Given the description of an element on the screen output the (x, y) to click on. 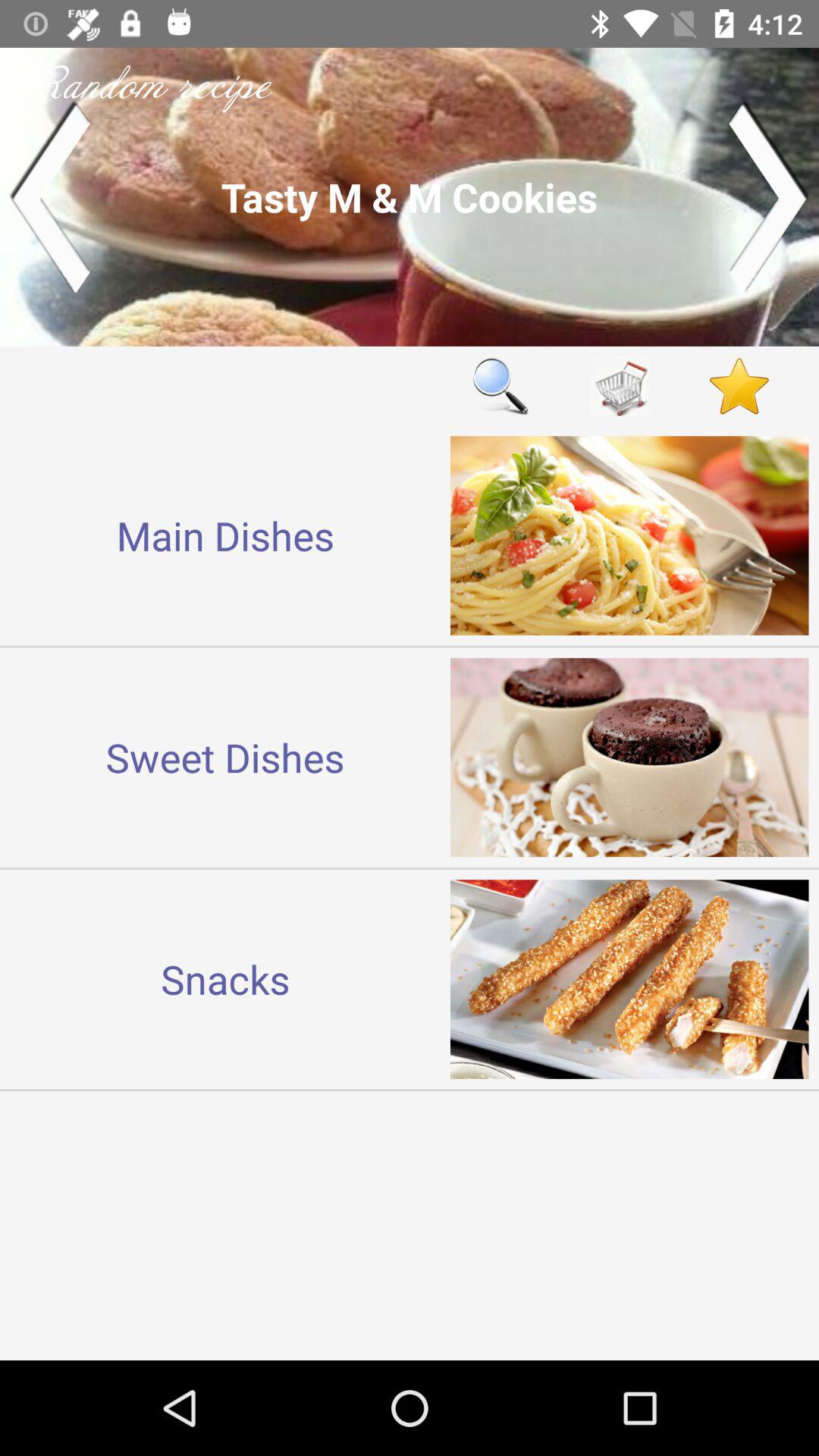
select recipe (409, 196)
